Given the description of an element on the screen output the (x, y) to click on. 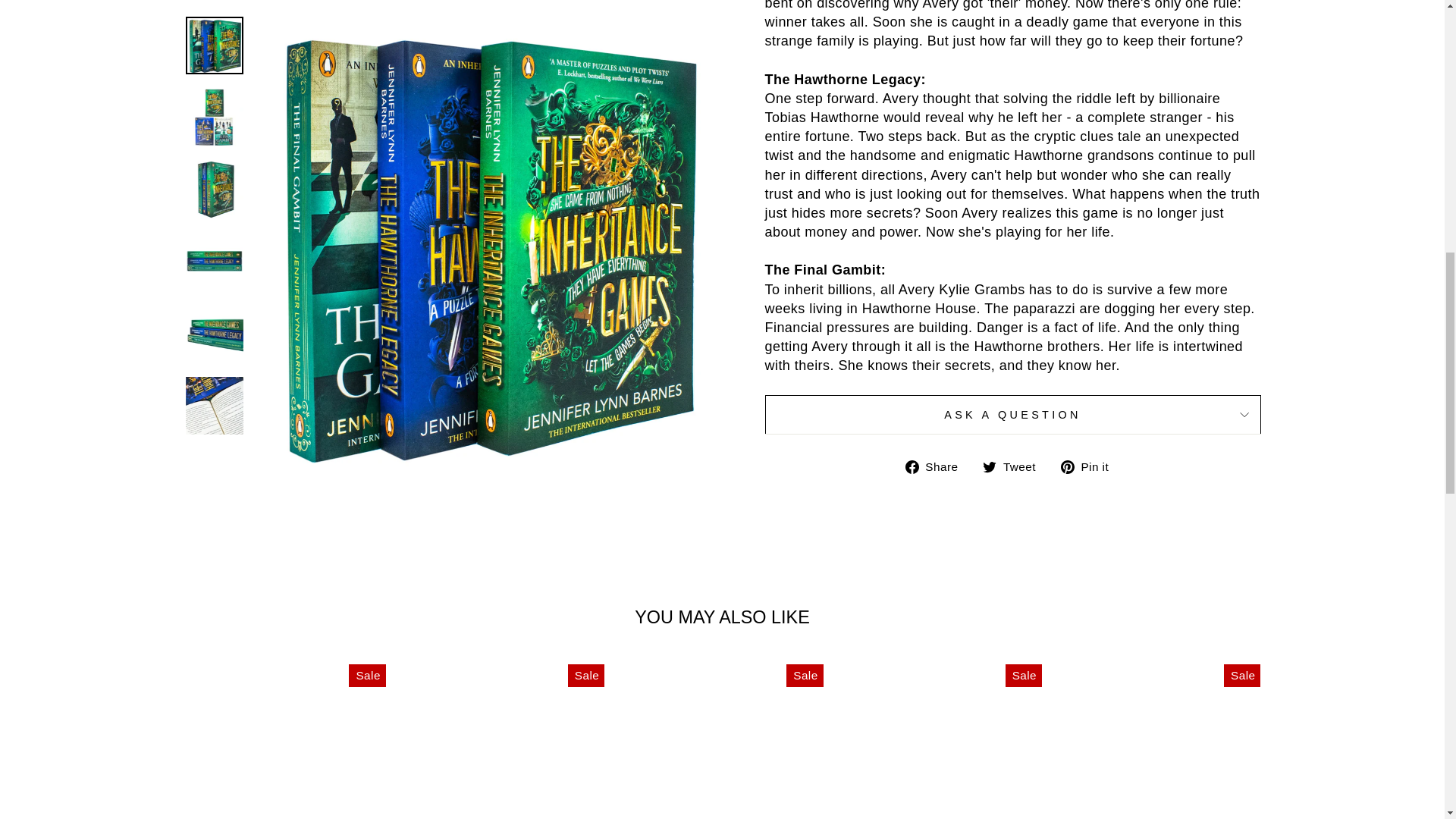
twitter (988, 467)
Pin on Pinterest (1090, 466)
Tweet on Twitter (1014, 466)
Share on Facebook (937, 466)
